Given the description of an element on the screen output the (x, y) to click on. 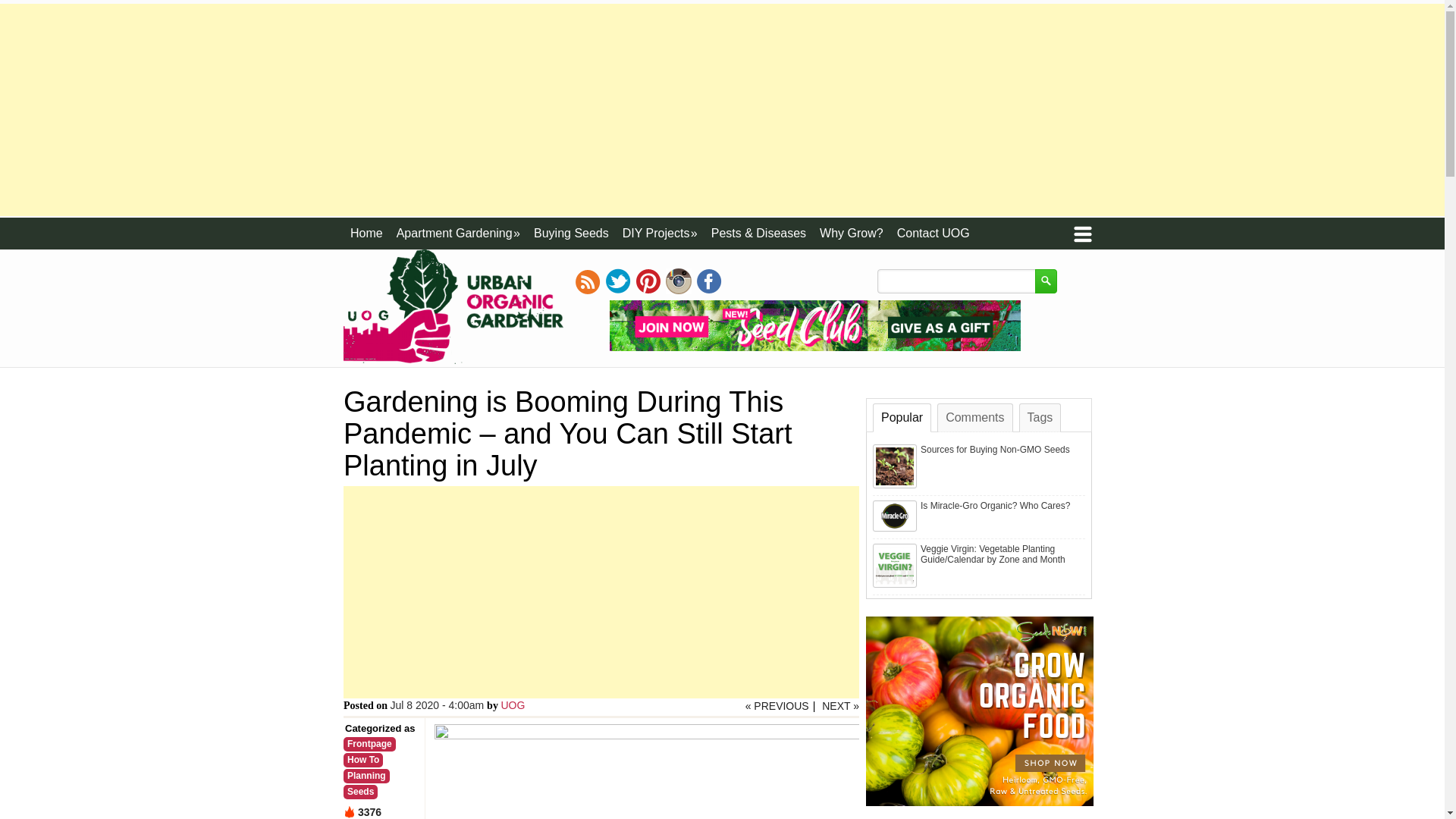
How To (362, 759)
UOG (512, 705)
twitter (617, 281)
linkedin (512, 705)
Buying Seeds (678, 281)
Frontpage (571, 233)
Advertisement (369, 744)
Planning (601, 592)
Home (366, 775)
Contact UOG (366, 233)
